Given the description of an element on the screen output the (x, y) to click on. 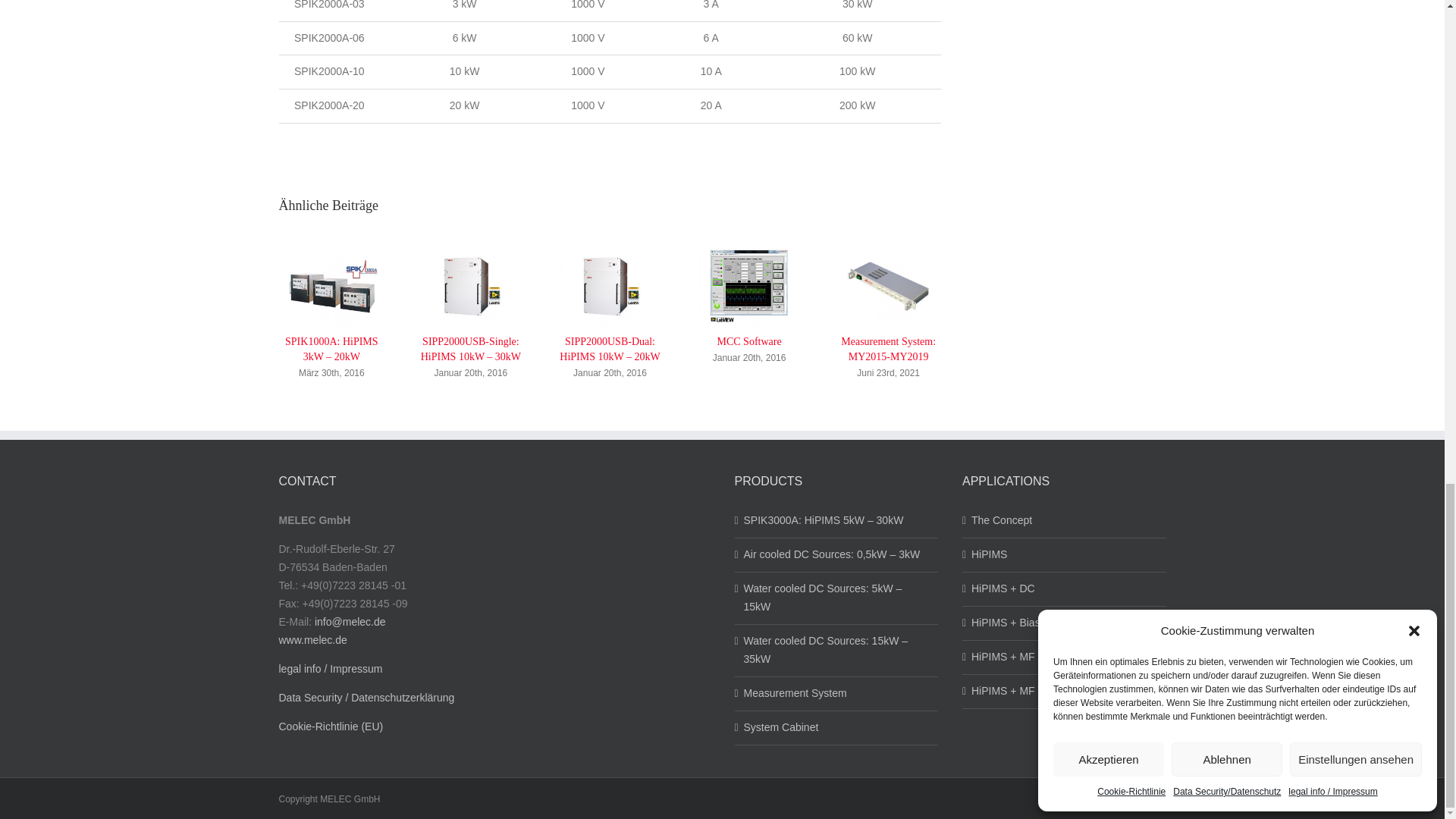
MCC Software (748, 341)
Measurement System: MY2015-MY2019 (888, 348)
